Given the description of an element on the screen output the (x, y) to click on. 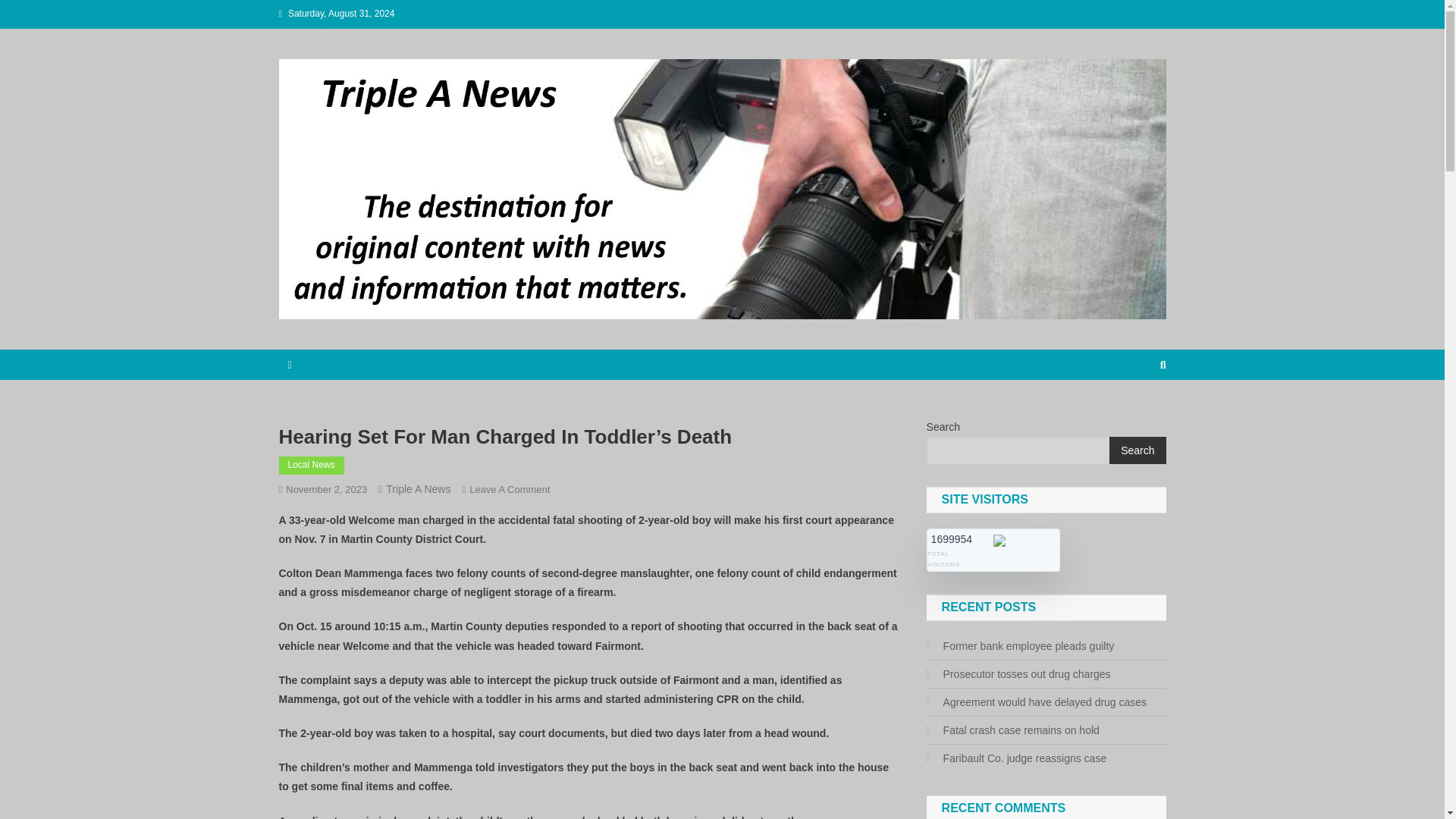
Search (1137, 450)
TripleA News (354, 334)
November 2, 2023 (325, 489)
Search (1133, 415)
Agreement would have delayed drug cases (1036, 701)
Triple A News (417, 489)
Fatal crash case remains on hold (1012, 730)
Faribault Co. judge reassigns case (1016, 758)
Prosecutor tosses out drug charges (1018, 673)
Former bank employee pleads guilty (1020, 646)
